Given the description of an element on the screen output the (x, y) to click on. 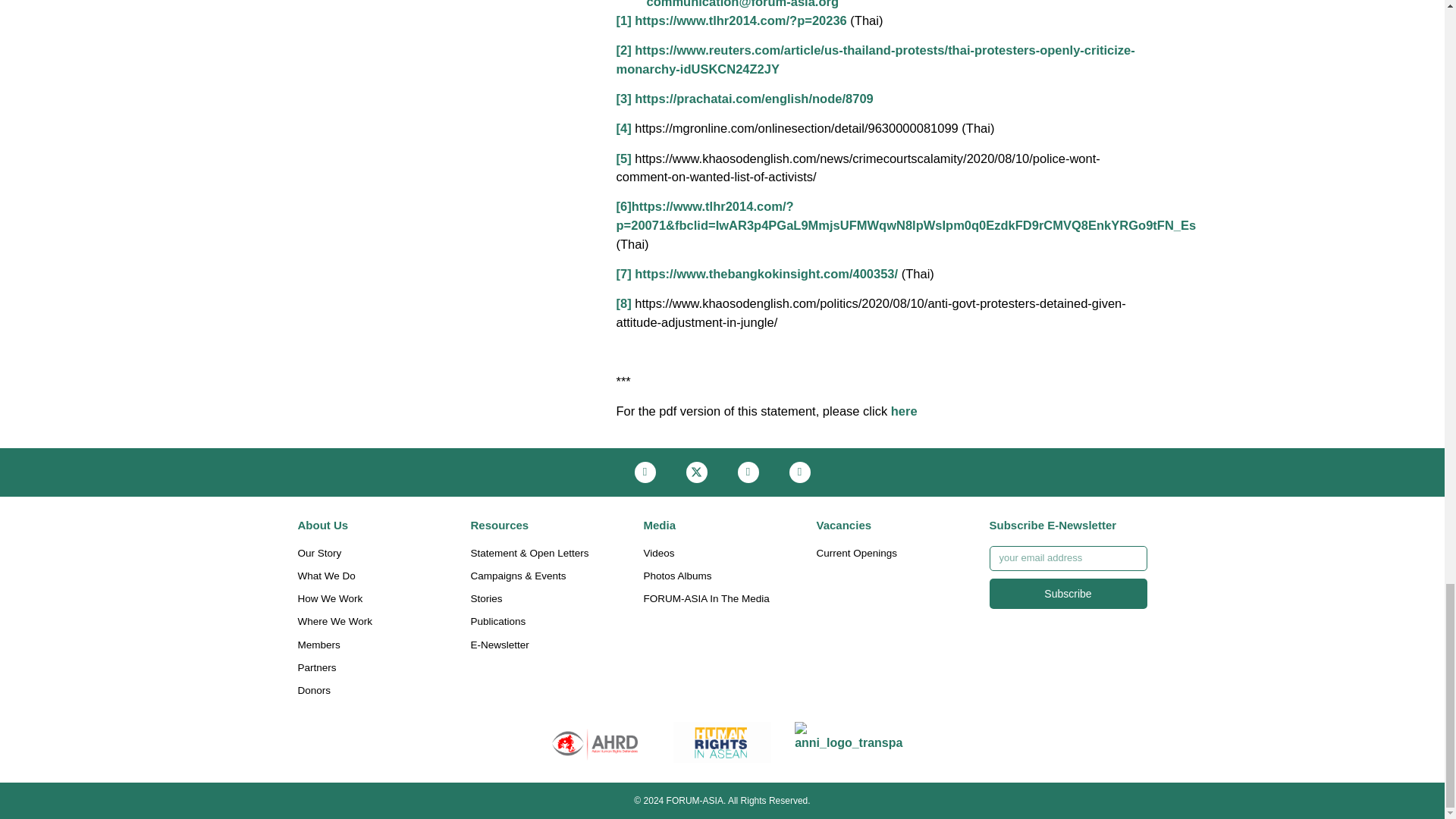
Default Title (595, 741)
Default Title (722, 741)
Default Title (848, 741)
